Given the description of an element on the screen output the (x, y) to click on. 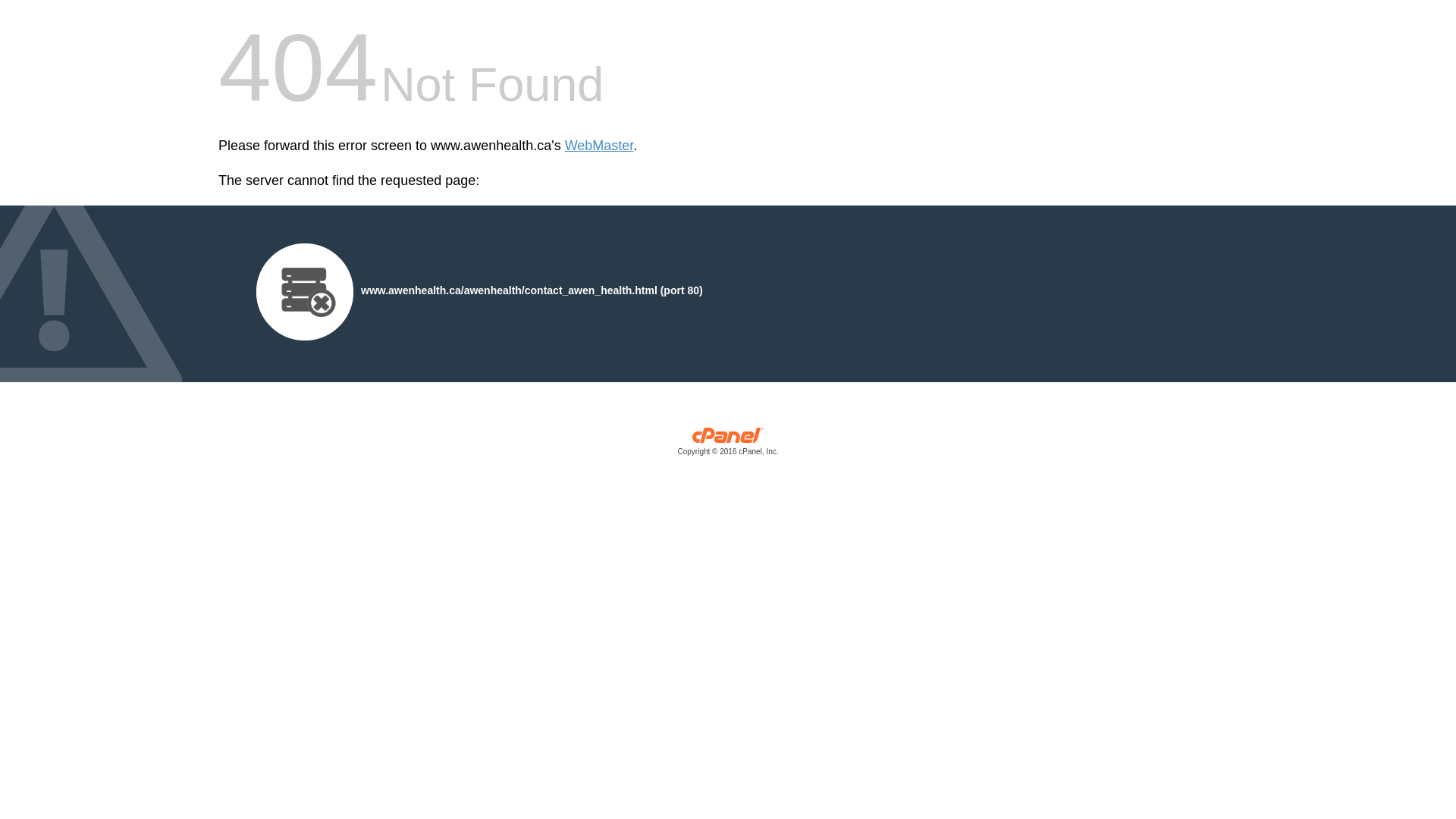
WebMaster Element type: text (598, 145)
